Given the description of an element on the screen output the (x, y) to click on. 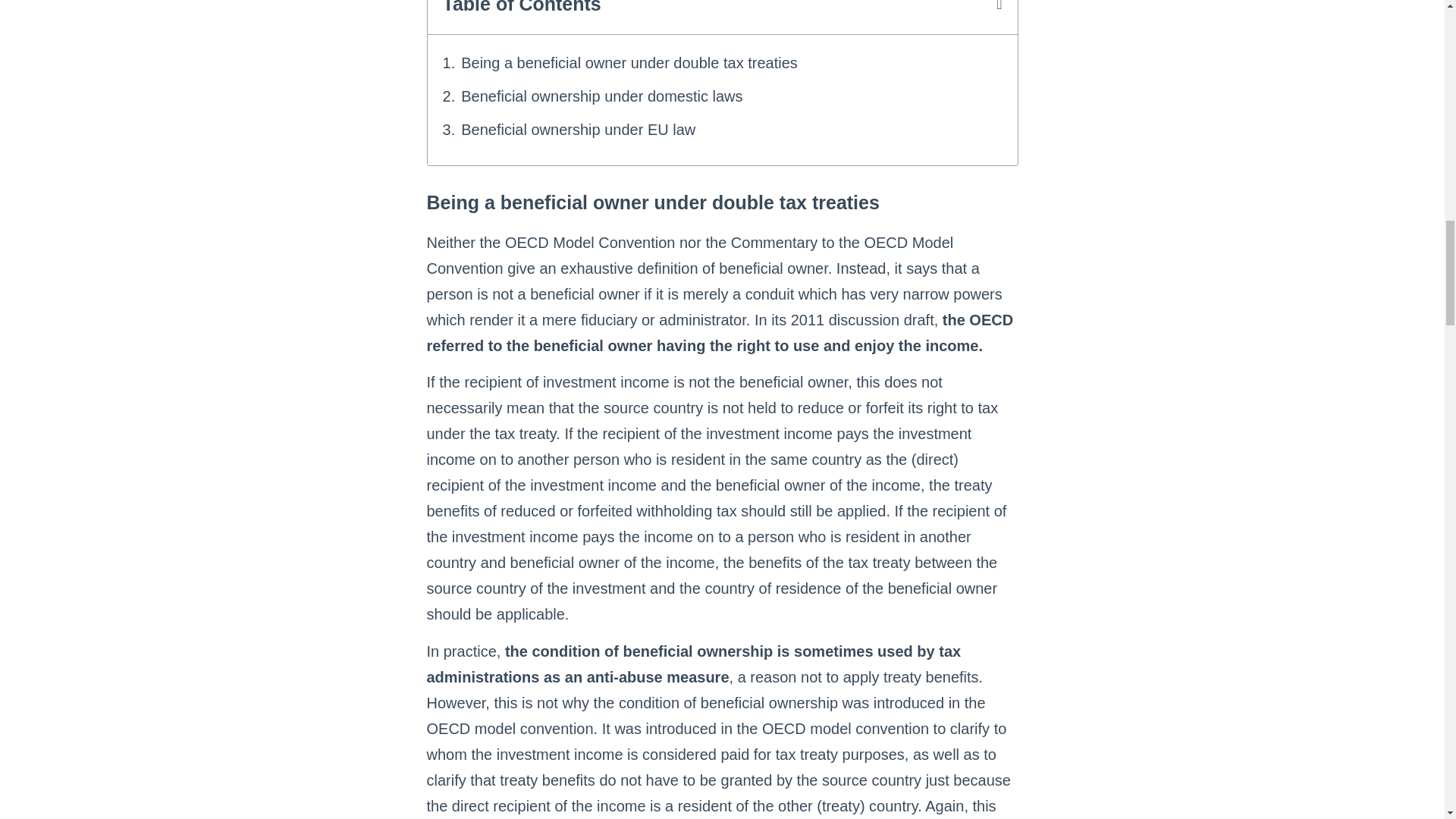
Beneficial ownership under EU law (578, 129)
Being a beneficial owner under double tax treaties (629, 62)
Beneficial ownership under domestic laws  (603, 95)
